Given the description of an element on the screen output the (x, y) to click on. 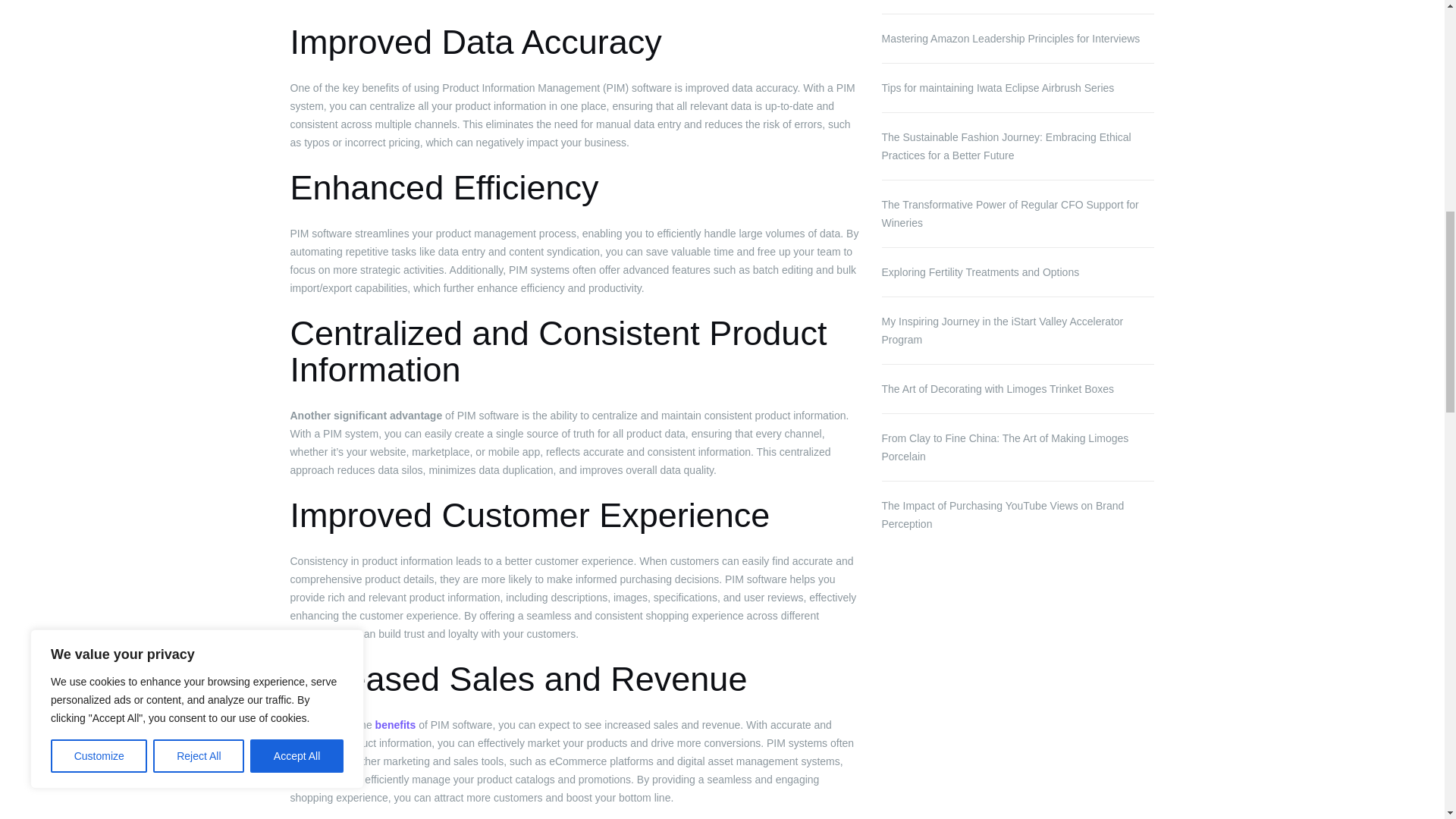
benefits (395, 725)
